Given the description of an element on the screen output the (x, y) to click on. 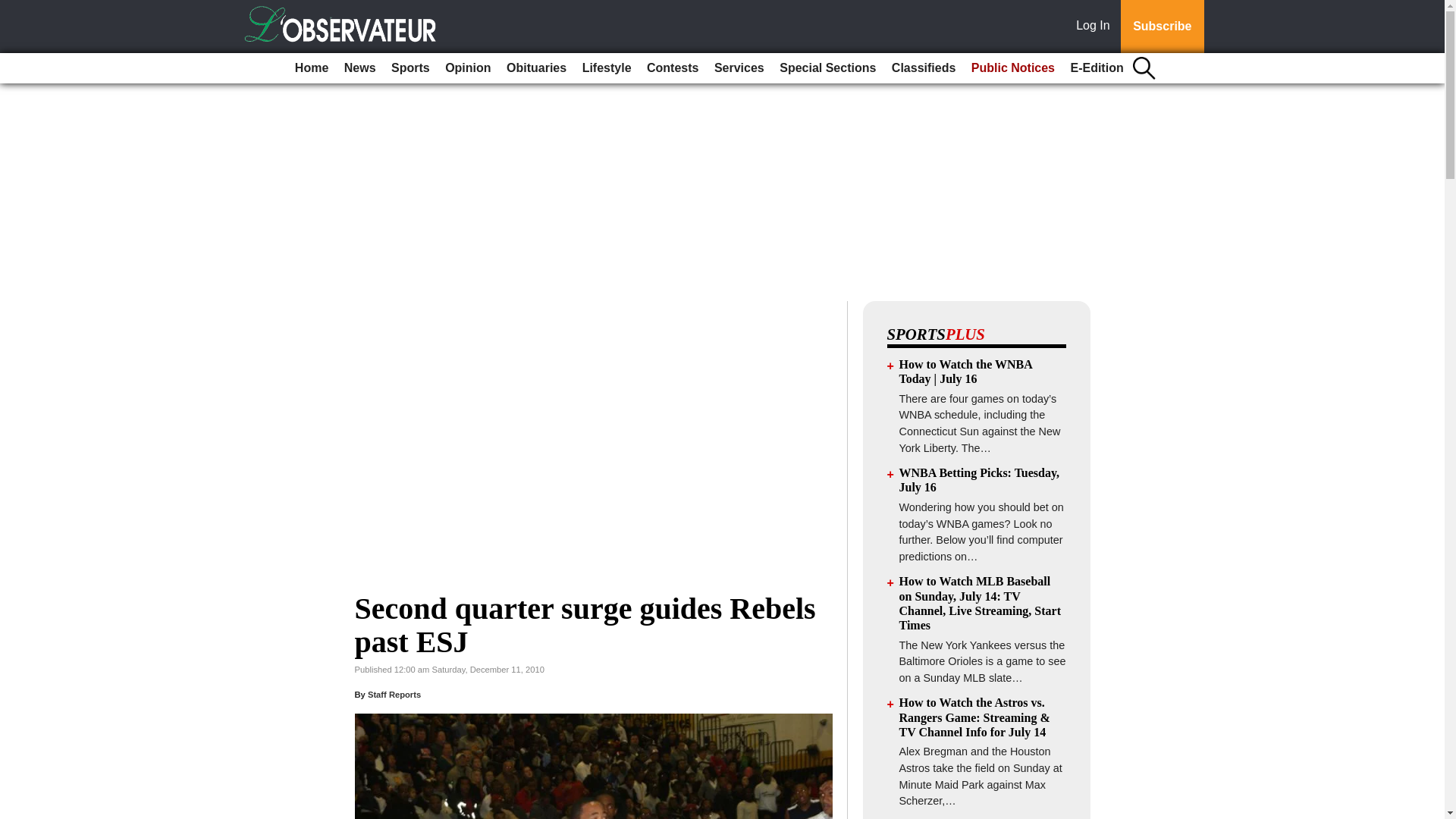
Log In (1095, 26)
Subscribe (1162, 26)
Services (738, 68)
Sports (410, 68)
Opinion (467, 68)
Staff Reports (394, 694)
News (359, 68)
Special Sections (827, 68)
Public Notices (1013, 68)
Lifestyle (606, 68)
WNBA Betting Picks: Tuesday, July 16 (979, 479)
Go (13, 9)
Classifieds (922, 68)
Home (311, 68)
